Given the description of an element on the screen output the (x, y) to click on. 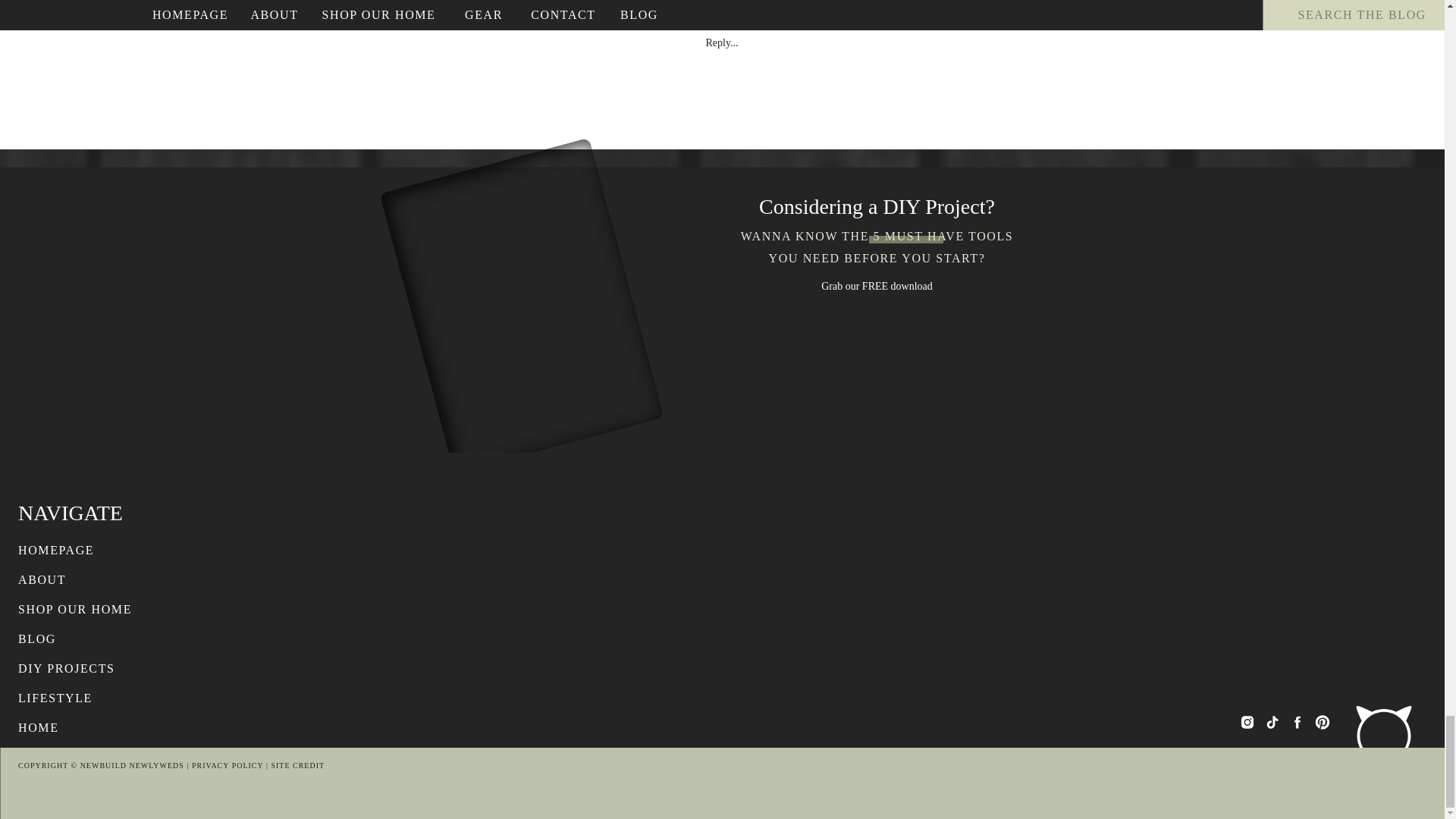
SITE CREDIT (297, 765)
LIFESTYLE (82, 698)
BLOG (82, 639)
ABOUT (82, 579)
DIY PROJECTS (82, 668)
BE THE FIRST TO COMMENT (721, 21)
SHOP OUR HOME (82, 608)
HOMEPAGE (82, 550)
PRIVACY POLICY (227, 765)
